Given the description of an element on the screen output the (x, y) to click on. 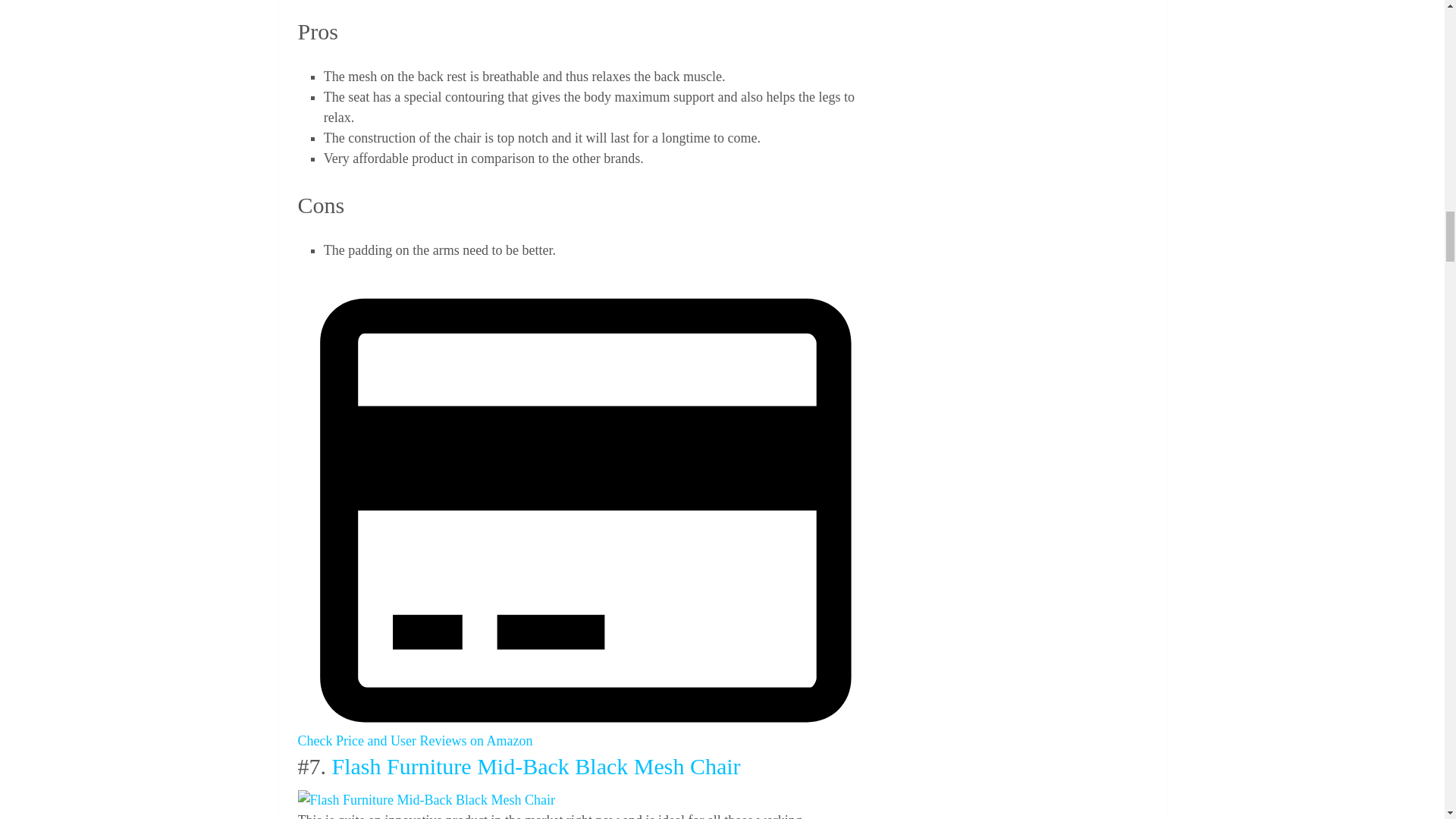
Flash Furniture Mid-Back Black Mesh Chair (425, 800)
